Given the description of an element on the screen output the (x, y) to click on. 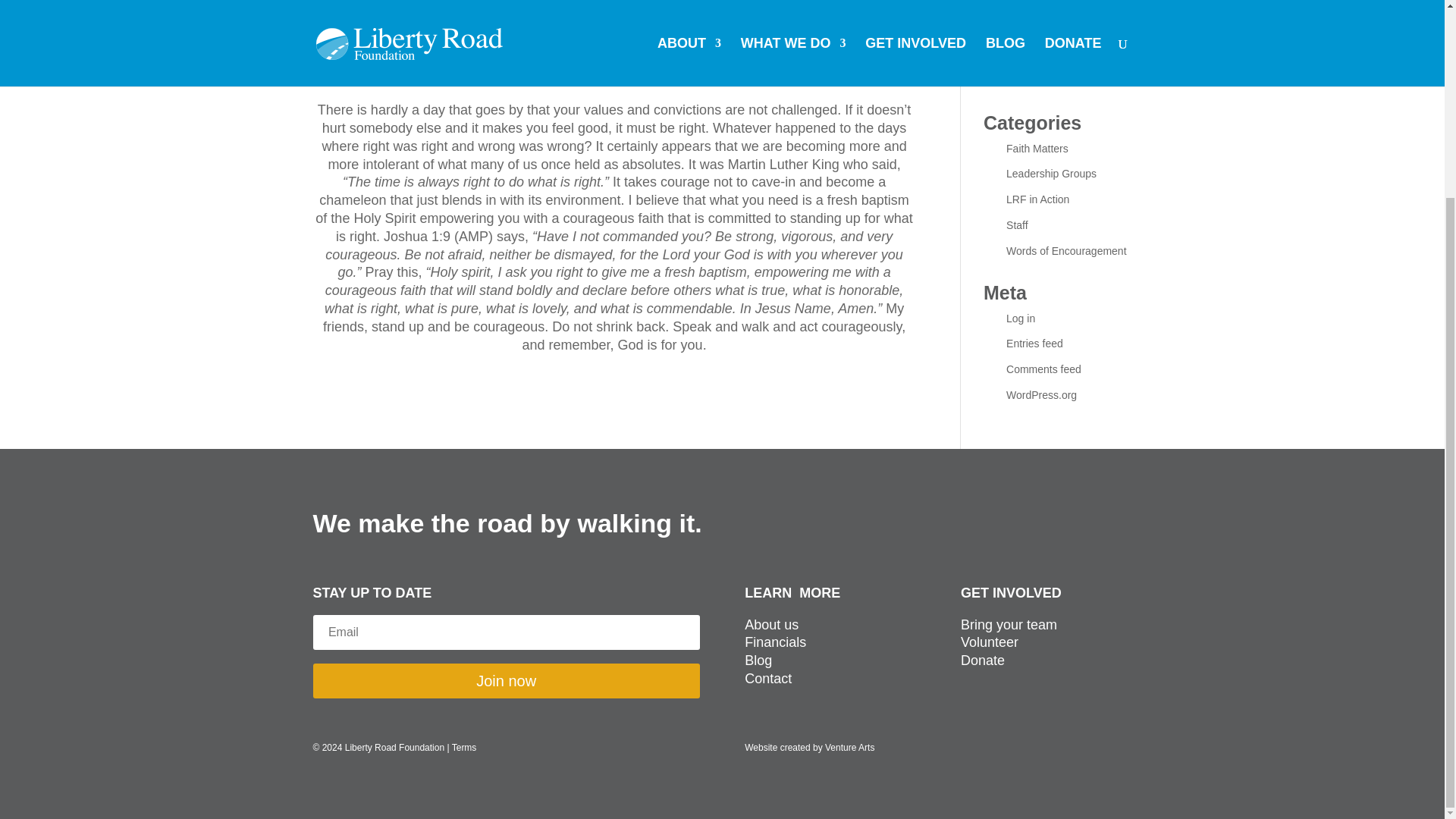
Just Keep Persevering (1059, 10)
The Road To Success Through Responsibility (1059, 46)
Determination In Business (1067, 80)
